Given the description of an element on the screen output the (x, y) to click on. 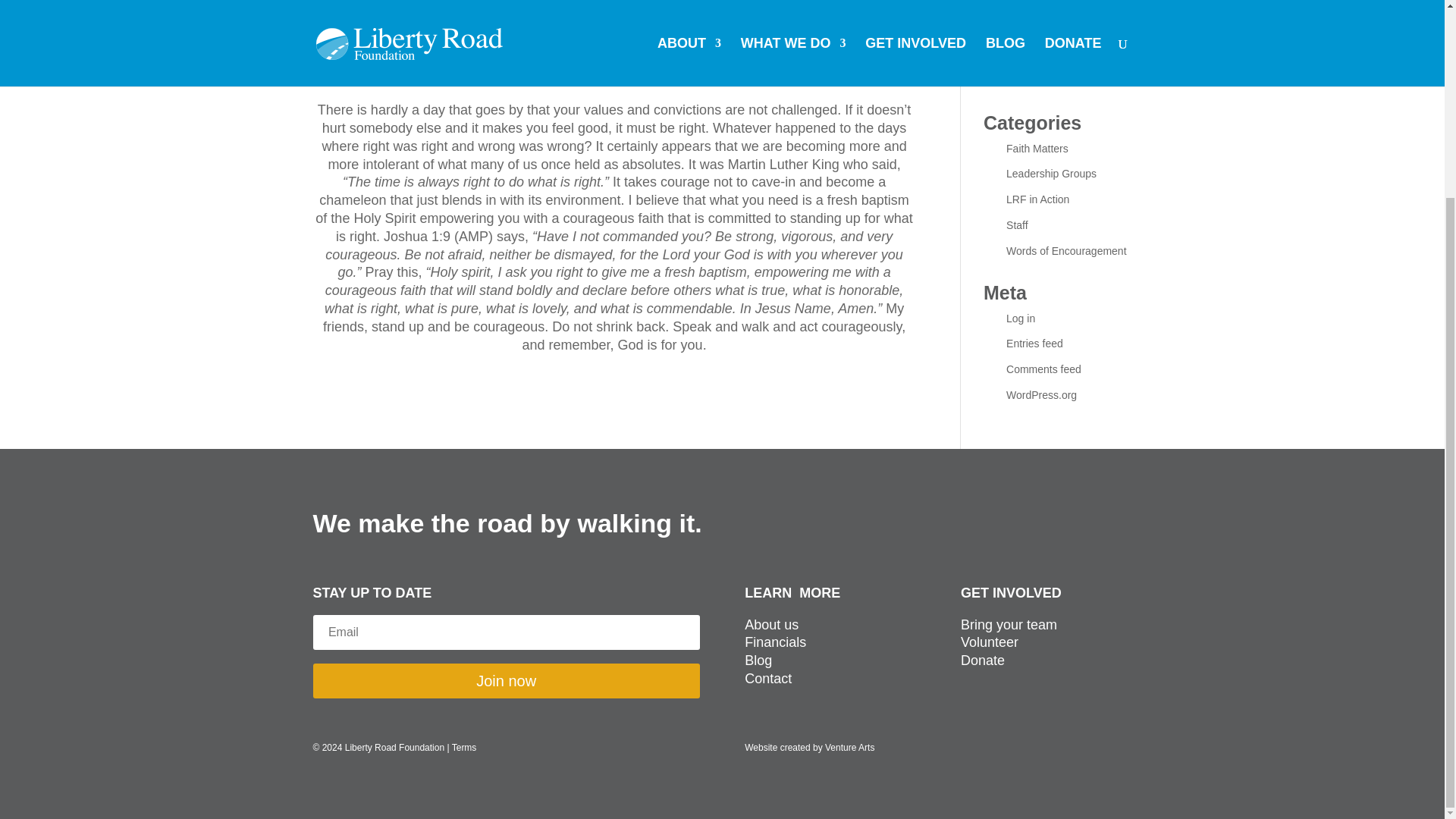
Just Keep Persevering (1059, 10)
The Road To Success Through Responsibility (1059, 46)
Determination In Business (1067, 80)
